Given the description of an element on the screen output the (x, y) to click on. 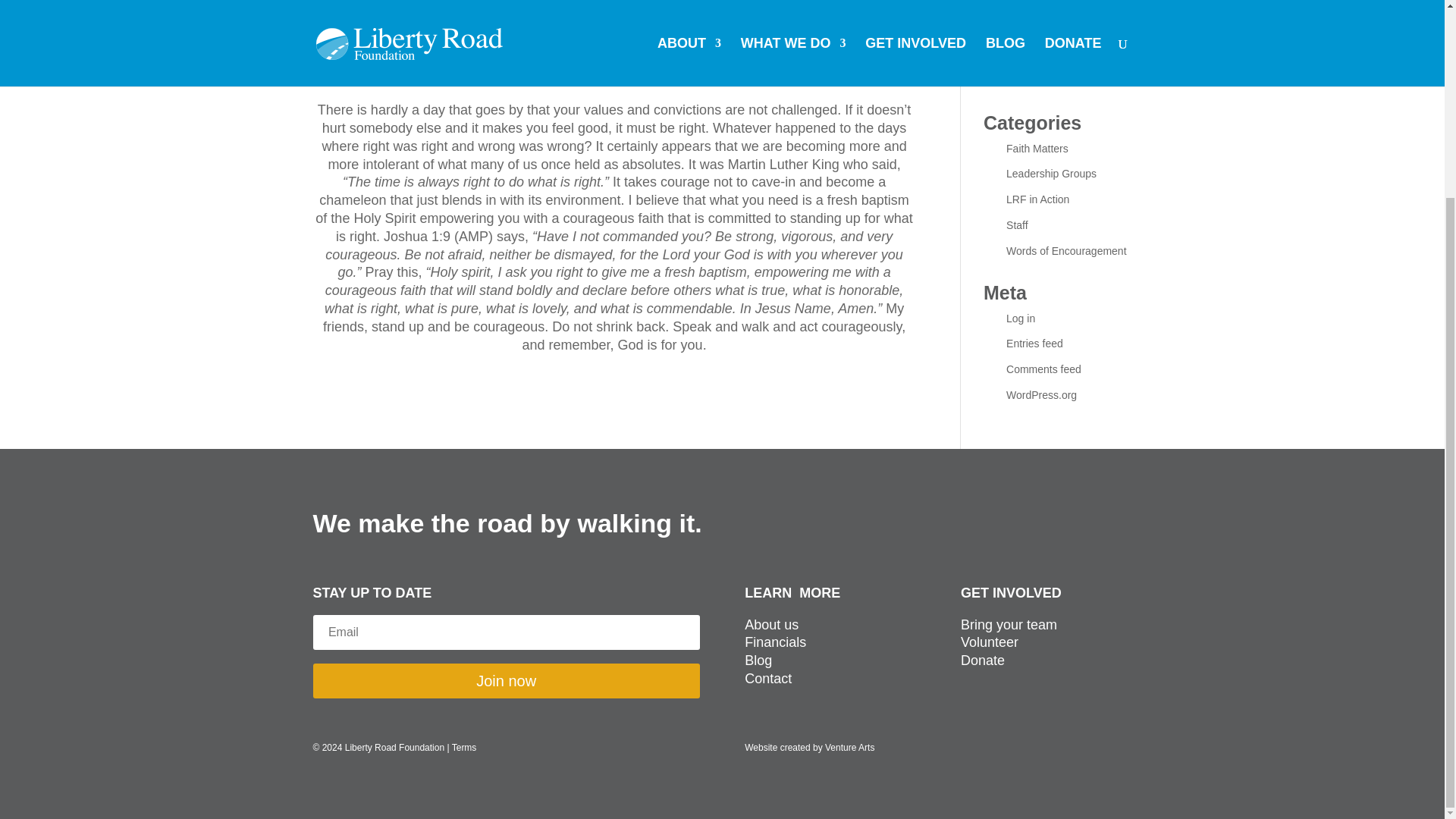
Just Keep Persevering (1059, 10)
The Road To Success Through Responsibility (1059, 46)
Determination In Business (1067, 80)
